Given the description of an element on the screen output the (x, y) to click on. 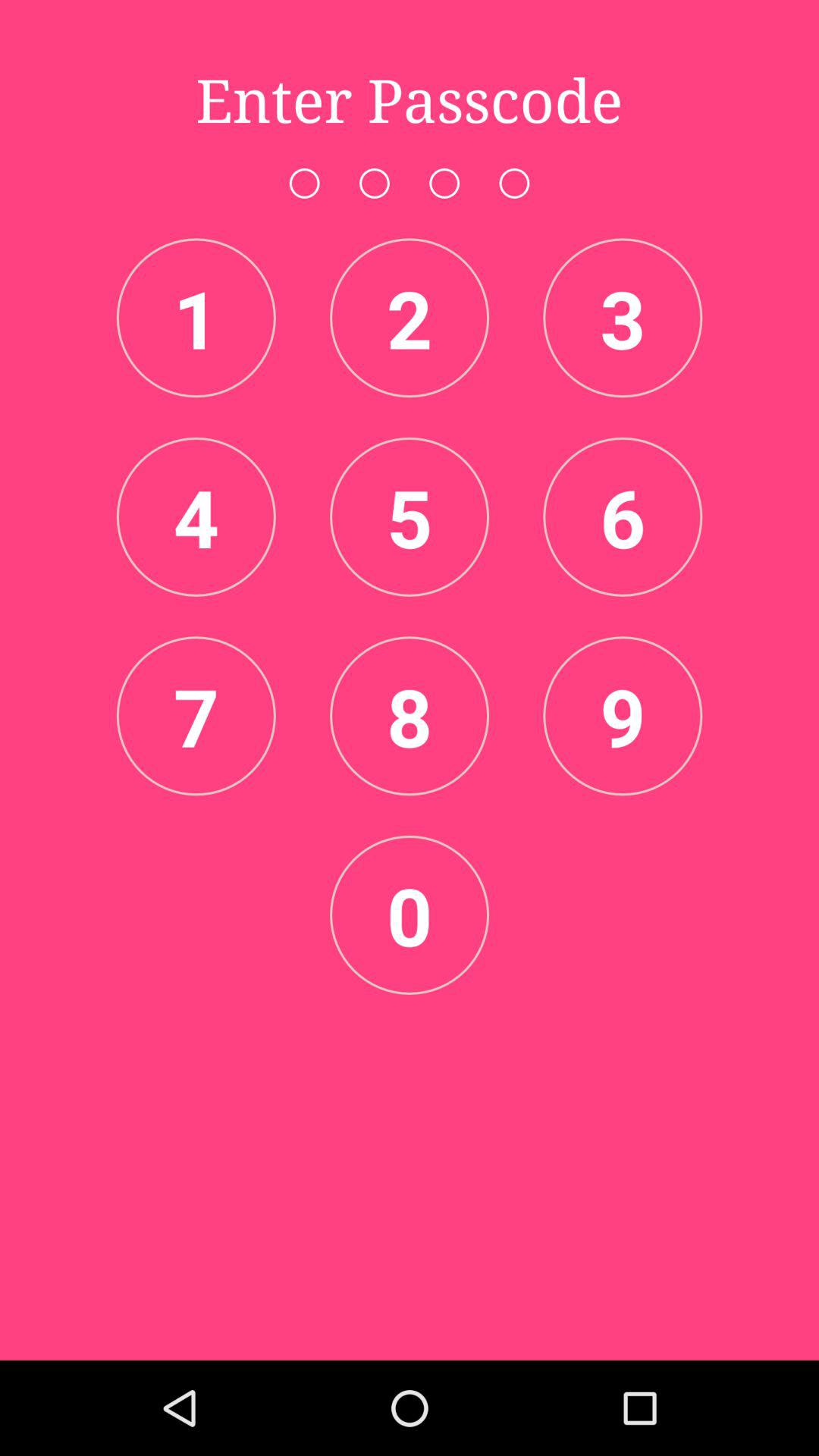
turn off the icon below the 8 item (409, 914)
